Given the description of an element on the screen output the (x, y) to click on. 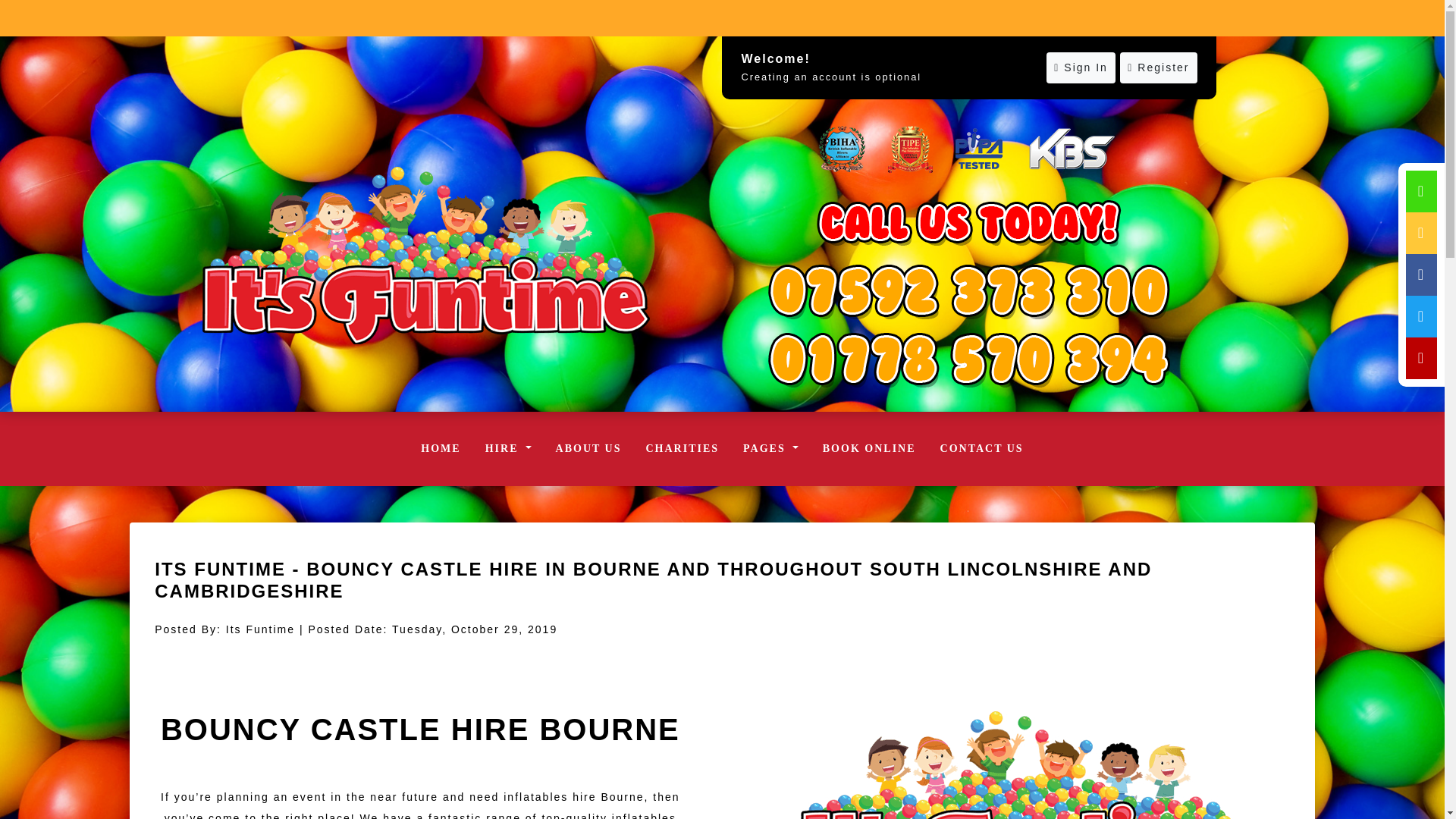
HIRE (508, 448)
Call Us Today 01778570394 (968, 291)
ABOUT US (588, 448)
Its Funtime (425, 255)
CONTACT US (981, 448)
Sign In (1080, 67)
CHARITIES (681, 448)
Register (1157, 67)
PAGES (770, 448)
BOOK ONLINE (869, 448)
